Given the description of an element on the screen output the (x, y) to click on. 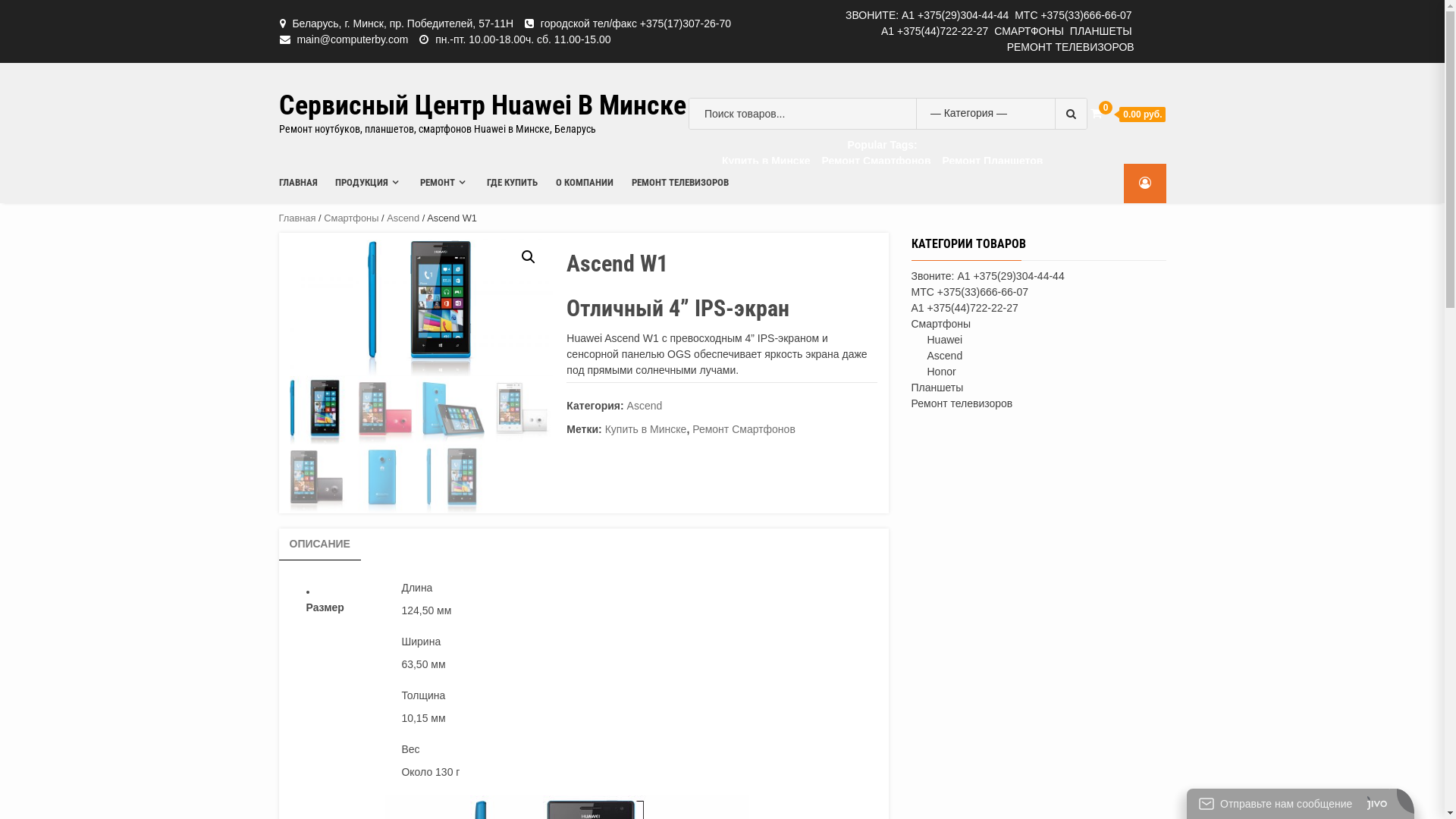
0 Element type: text (1095, 112)
A1 +375(44)722-22-27 Element type: text (934, 31)
Honor Element type: text (940, 371)
Ascend Element type: text (944, 355)
Ascend W1,. Element type: hover (416, 304)
A1 +375(44)722-22-27 Element type: text (964, 307)
Huawei Element type: text (944, 339)
Ascend Element type: text (644, 405)
Ascend Element type: text (402, 217)
main@computerby.com Element type: text (351, 39)
